Given the description of an element on the screen output the (x, y) to click on. 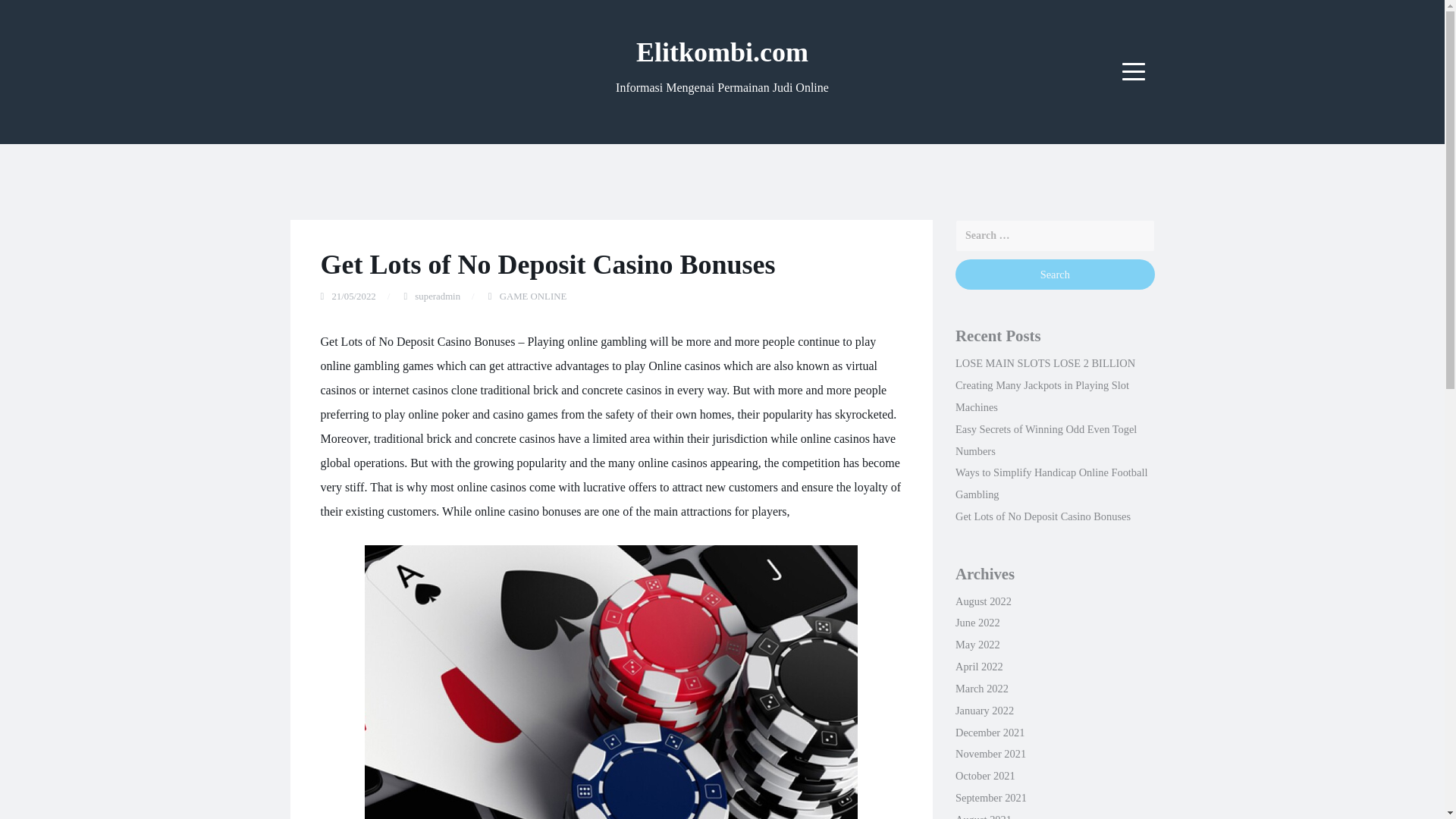
September 2021 (990, 797)
Menu (1133, 71)
Ways to Simplify Handicap Online Football Gambling (1051, 483)
June 2022 (977, 622)
Creating Many Jackpots in Playing Slot Machines (1042, 396)
Easy Secrets of Winning Odd Even Togel Numbers (1046, 440)
Search (1054, 274)
GAME ONLINE (533, 296)
May 2022 (977, 644)
October 2021 (984, 775)
